Given the description of an element on the screen output the (x, y) to click on. 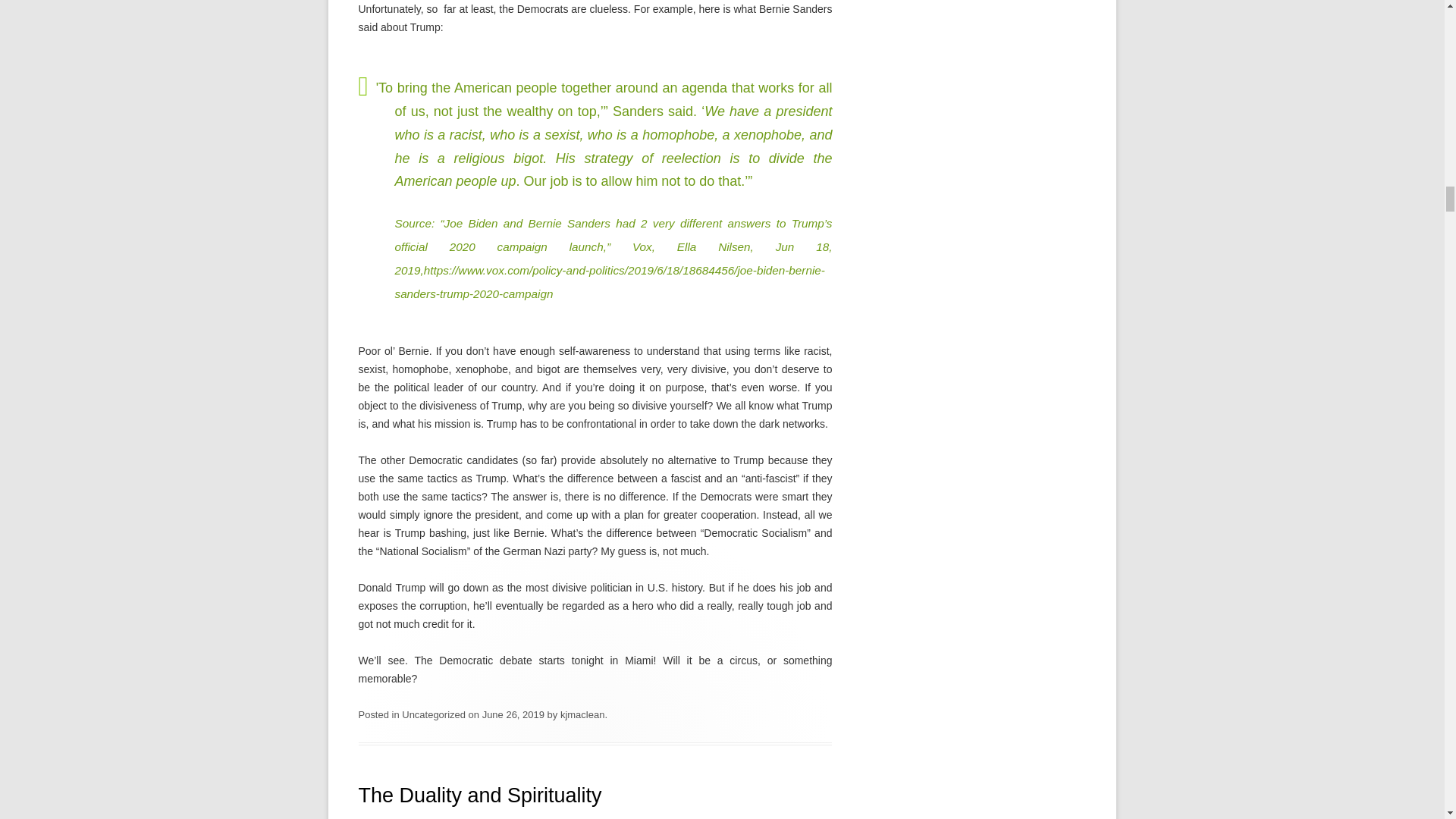
June 26, 2019 (512, 714)
4:20 pm (512, 714)
The Duality and Spirituality (479, 794)
kjmaclean (582, 714)
View all posts by kjmaclean (582, 714)
Uncategorized (433, 714)
